Given the description of an element on the screen output the (x, y) to click on. 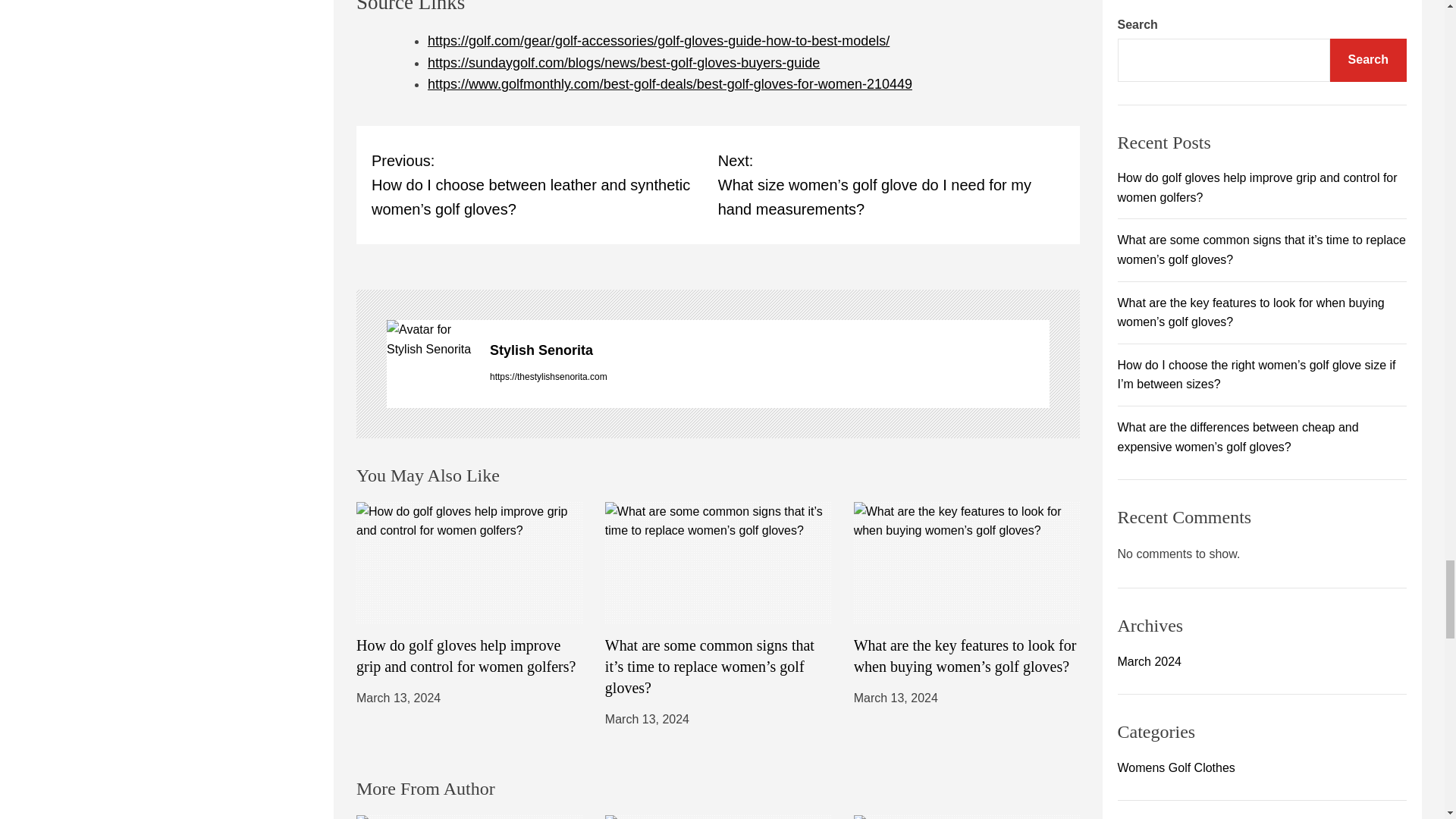
Stylish Senorita (769, 350)
Stylish Senorita (769, 350)
Stylish Senorita (430, 339)
